Given the description of an element on the screen output the (x, y) to click on. 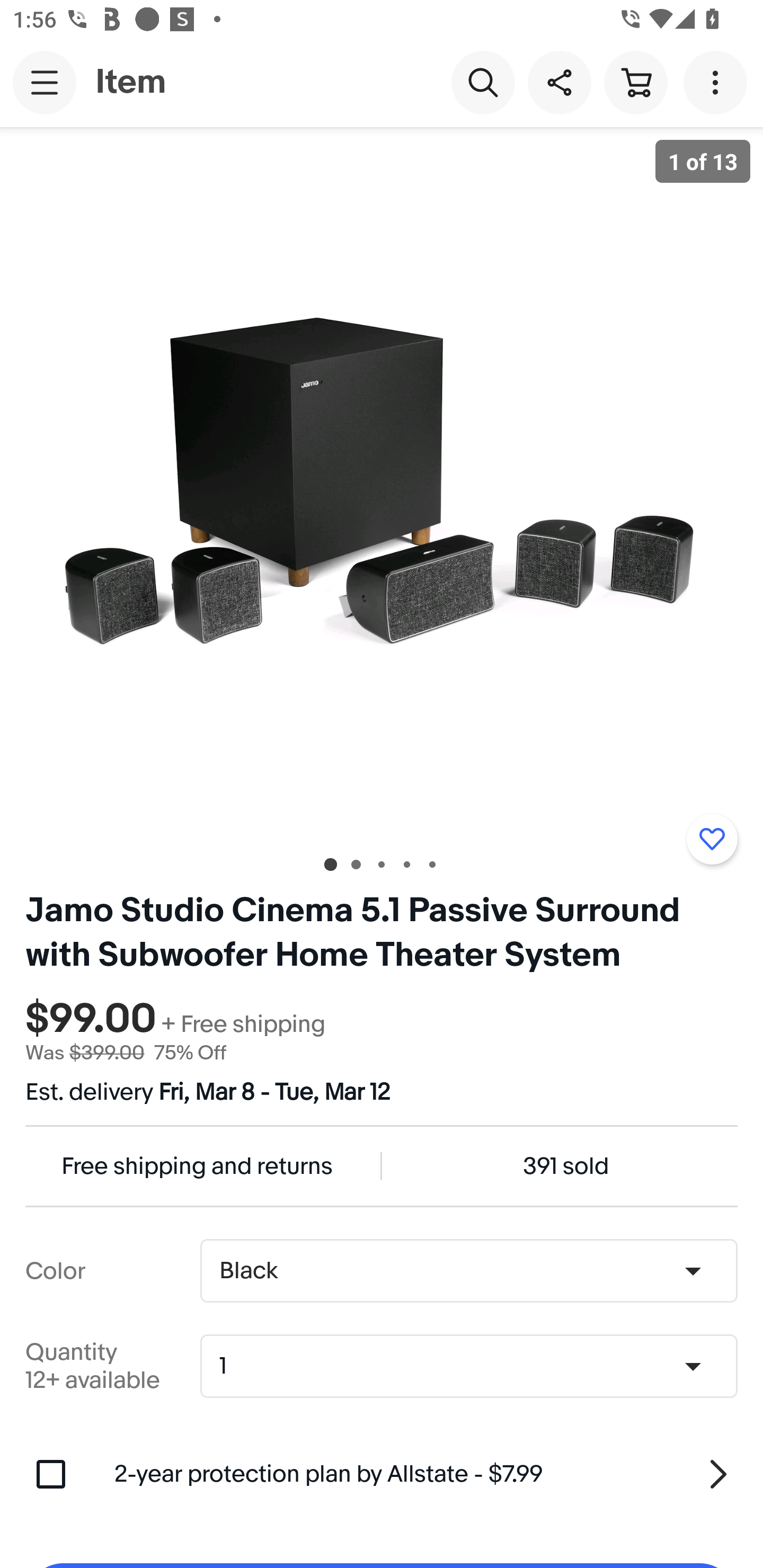
Main navigation, open (44, 82)
Search (482, 81)
Share this item (559, 81)
Cart button shopping cart (635, 81)
More options (718, 81)
Item image 1 of 13 (381, 482)
Add to watchlist (711, 838)
Color,Black Black (468, 1270)
Quantity,1,12+ available 1 (474, 1365)
2-year protection plan by Allstate - $7.99 (425, 1473)
